Given the description of an element on the screen output the (x, y) to click on. 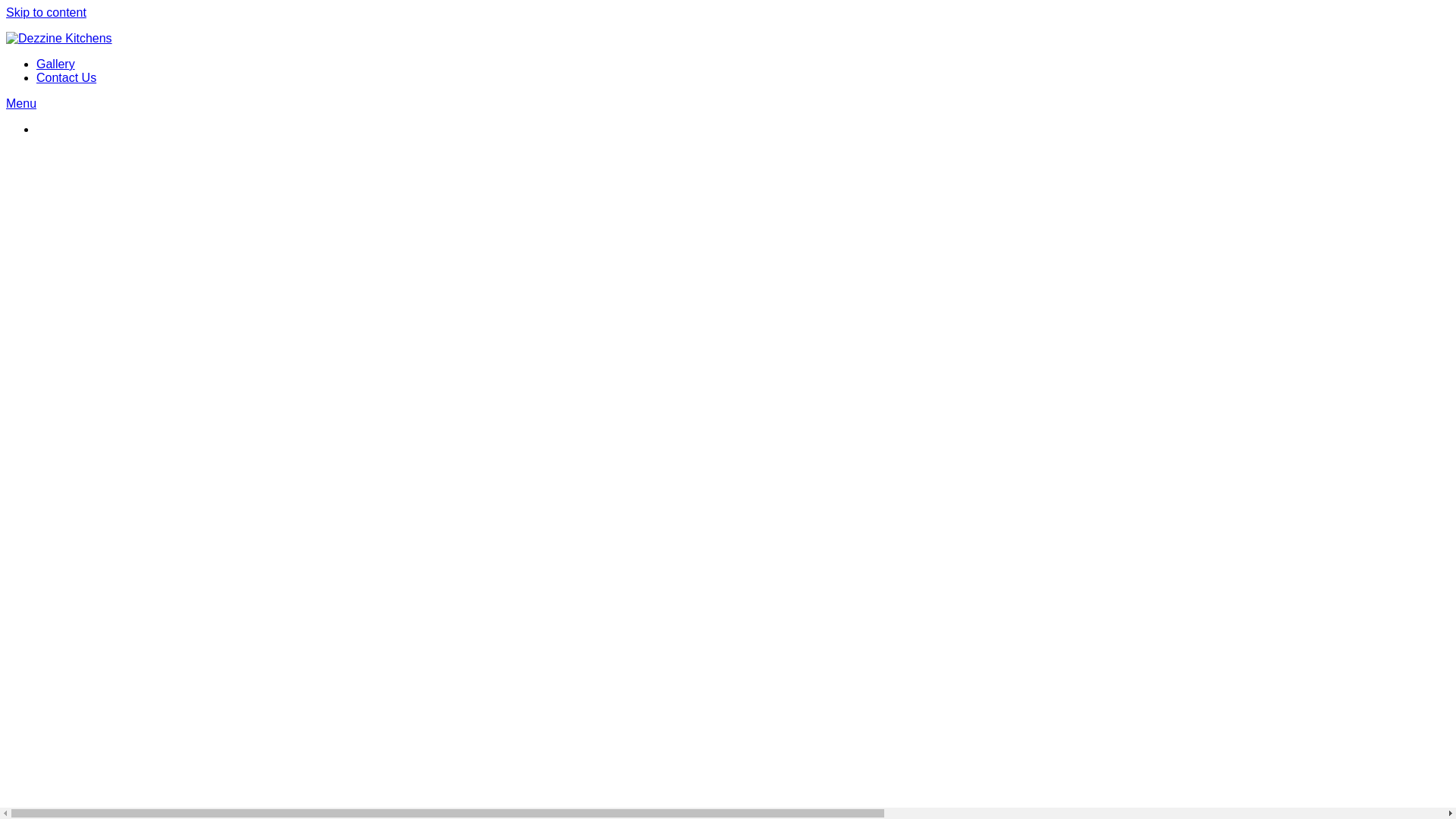
Skip to content Element type: text (46, 12)
Contact Us Element type: text (66, 77)
Gallery Element type: text (55, 63)
Menu Element type: text (21, 103)
